Given the description of an element on the screen output the (x, y) to click on. 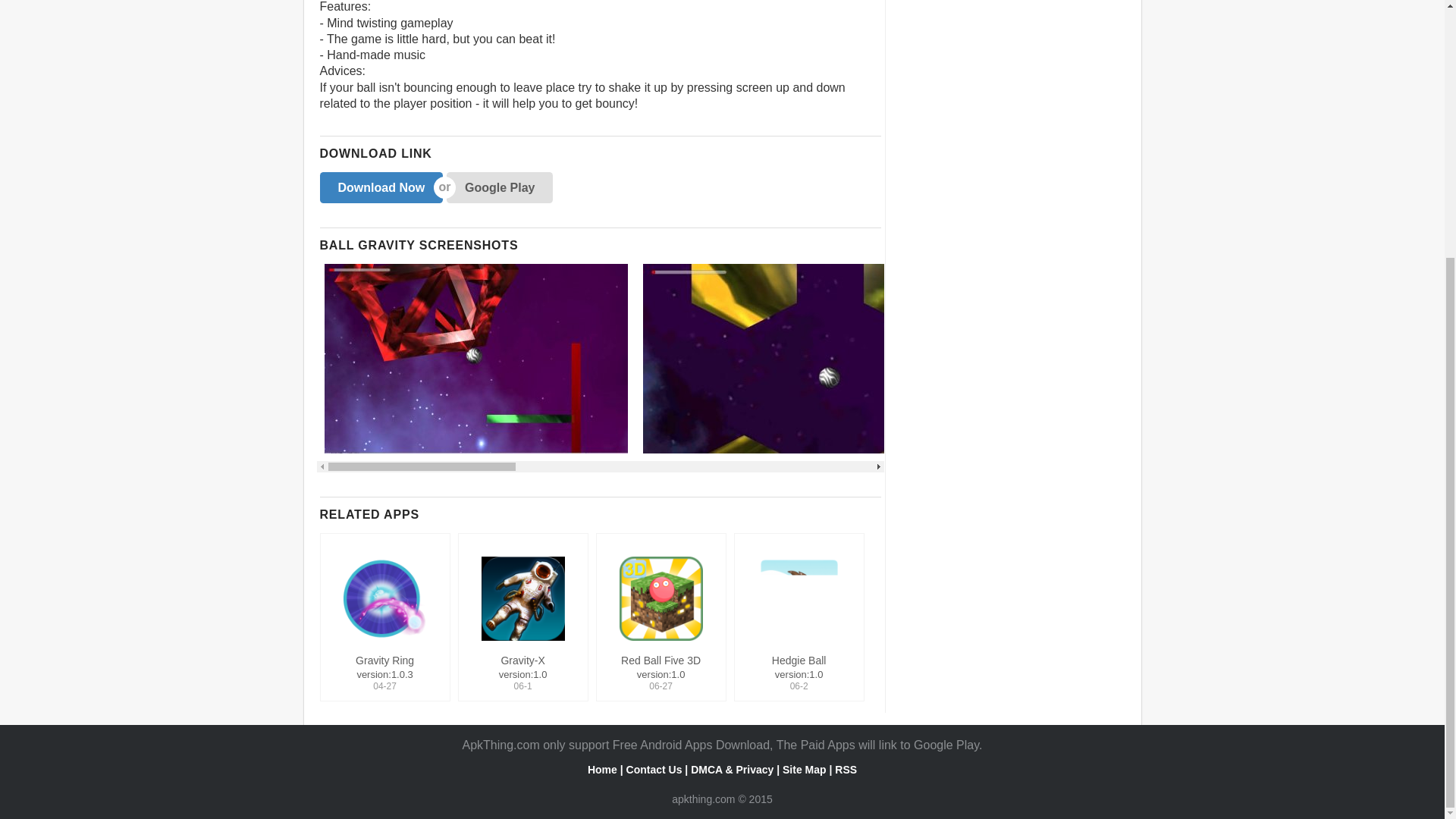
Ball Gravity (811, 358)
Ball Gravity (475, 358)
Ball Gravity (1152, 358)
